Given the description of an element on the screen output the (x, y) to click on. 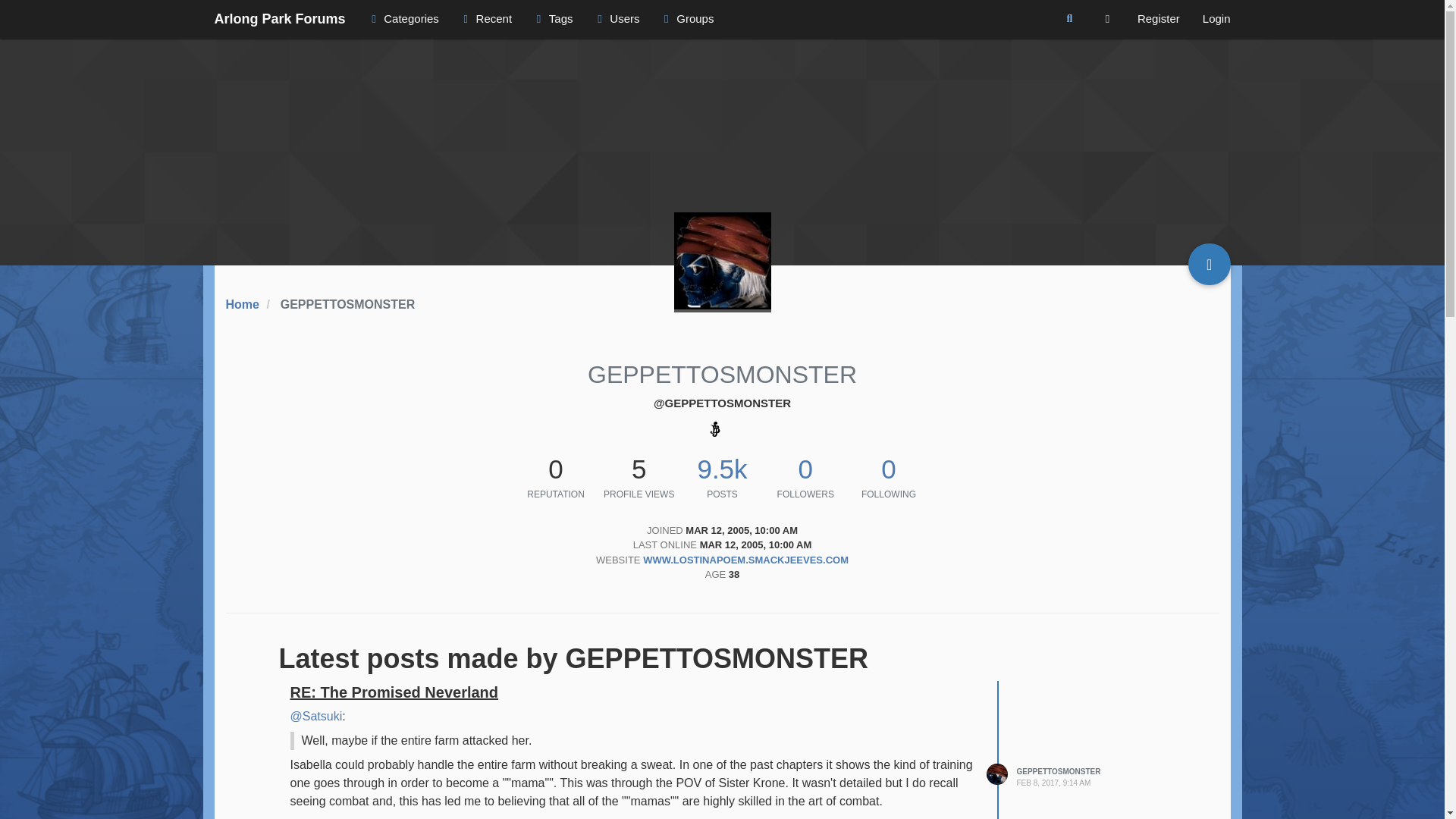
Offline (721, 262)
9.5k (721, 469)
Users (616, 18)
Groups (686, 18)
Tags (551, 18)
Login (1216, 18)
Search (1069, 18)
Register (1158, 18)
Home (242, 304)
Categories (402, 18)
Recent (484, 18)
